Given the description of an element on the screen output the (x, y) to click on. 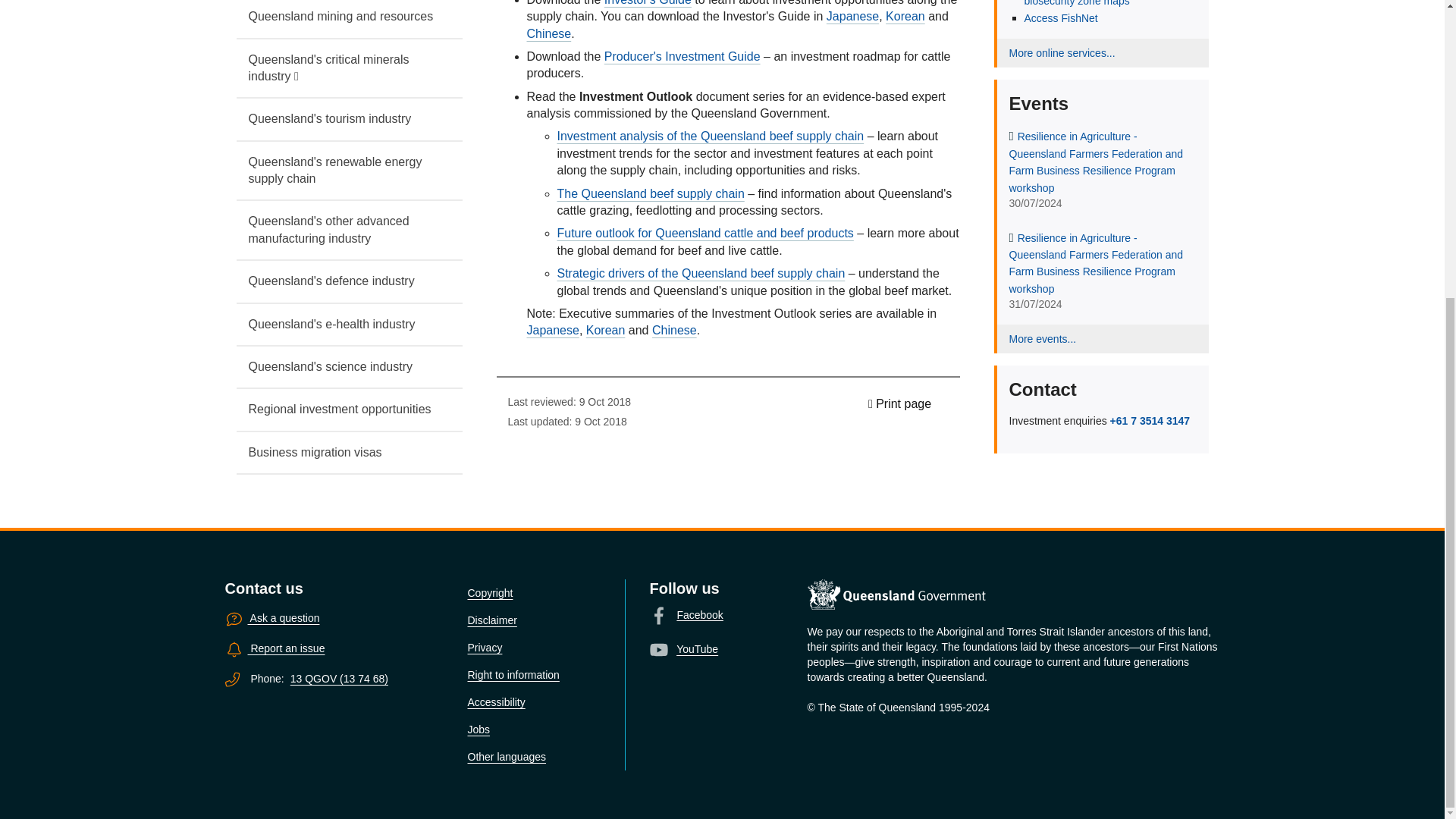
Facebook icon (657, 615)
Youtube icon (657, 649)
